Given the description of an element on the screen output the (x, y) to click on. 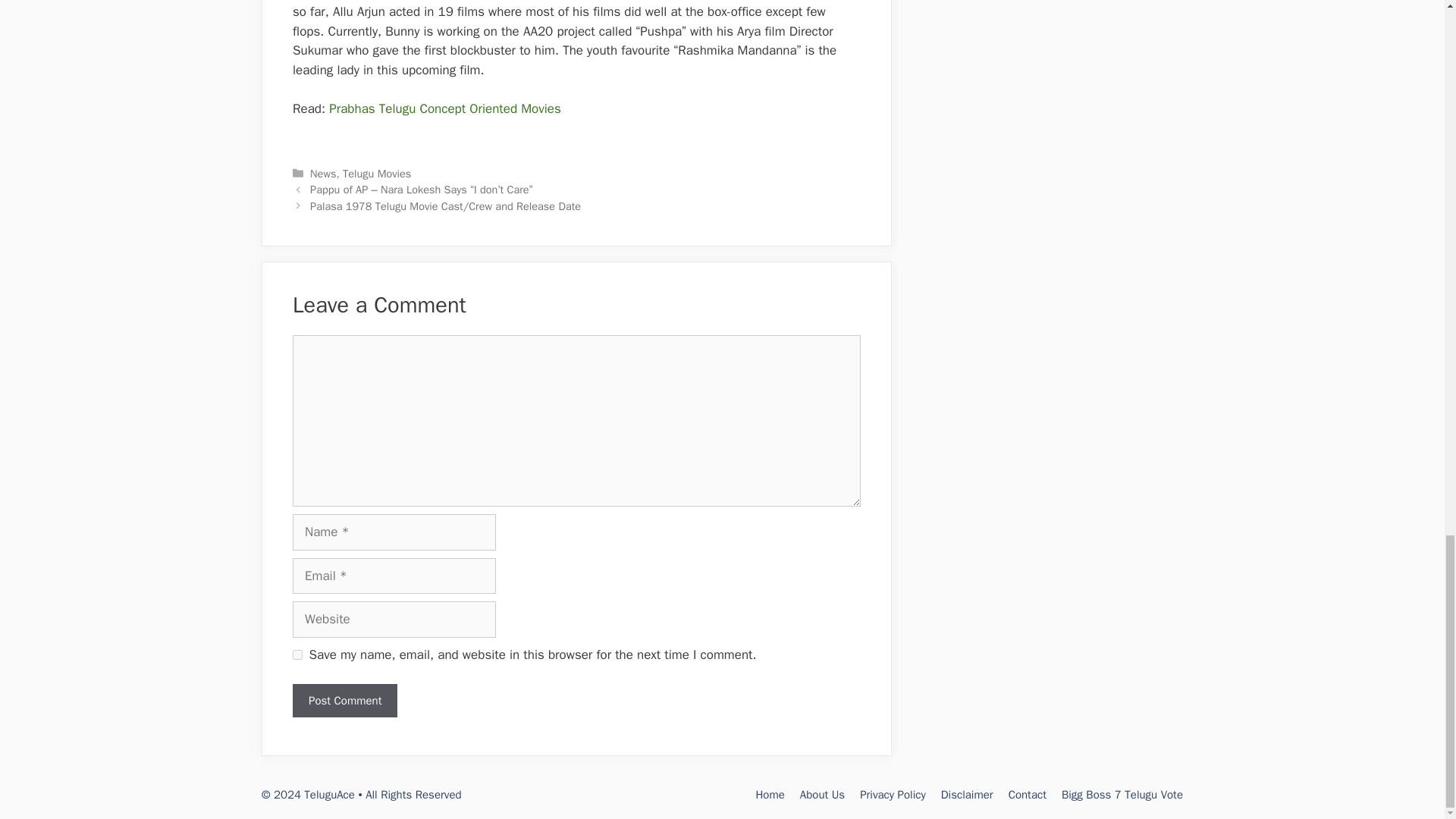
Previous (421, 189)
yes (297, 655)
Next (445, 205)
Prabhas Telugu Concept Oriented Movies (444, 108)
Post Comment (344, 700)
Telugu Movies (376, 173)
News (323, 173)
Post Comment (344, 700)
